Given the description of an element on the screen output the (x, y) to click on. 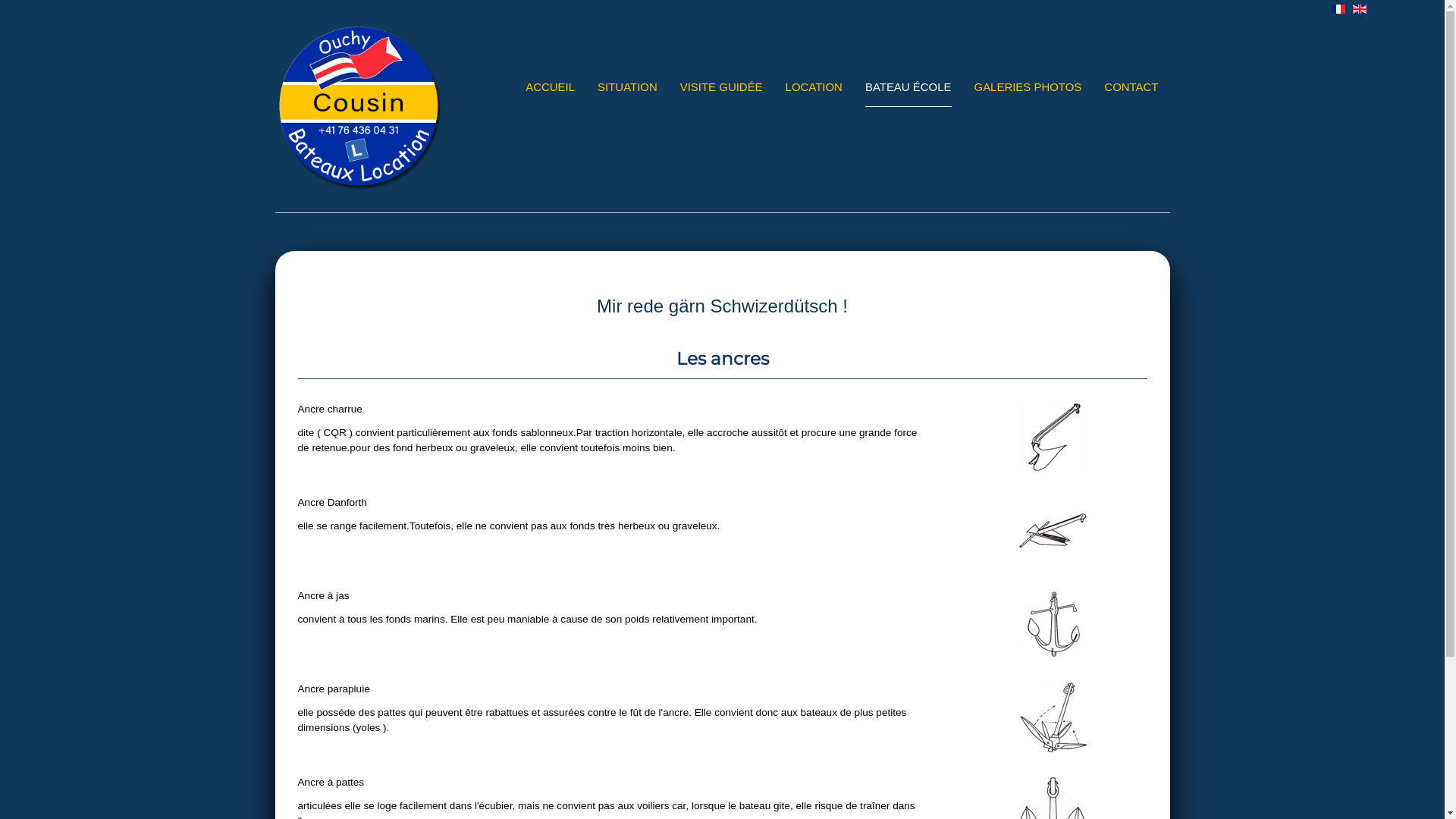
GALERIES PHOTOS Element type: text (1027, 87)
LOCATION Element type: text (813, 87)
SITUATION Element type: text (627, 87)
CONTACT Element type: text (1130, 87)
ACCUEIL Element type: text (549, 87)
en-GB Element type: hover (1359, 8)
fr-FR Element type: hover (1338, 8)
